Given the description of an element on the screen output the (x, y) to click on. 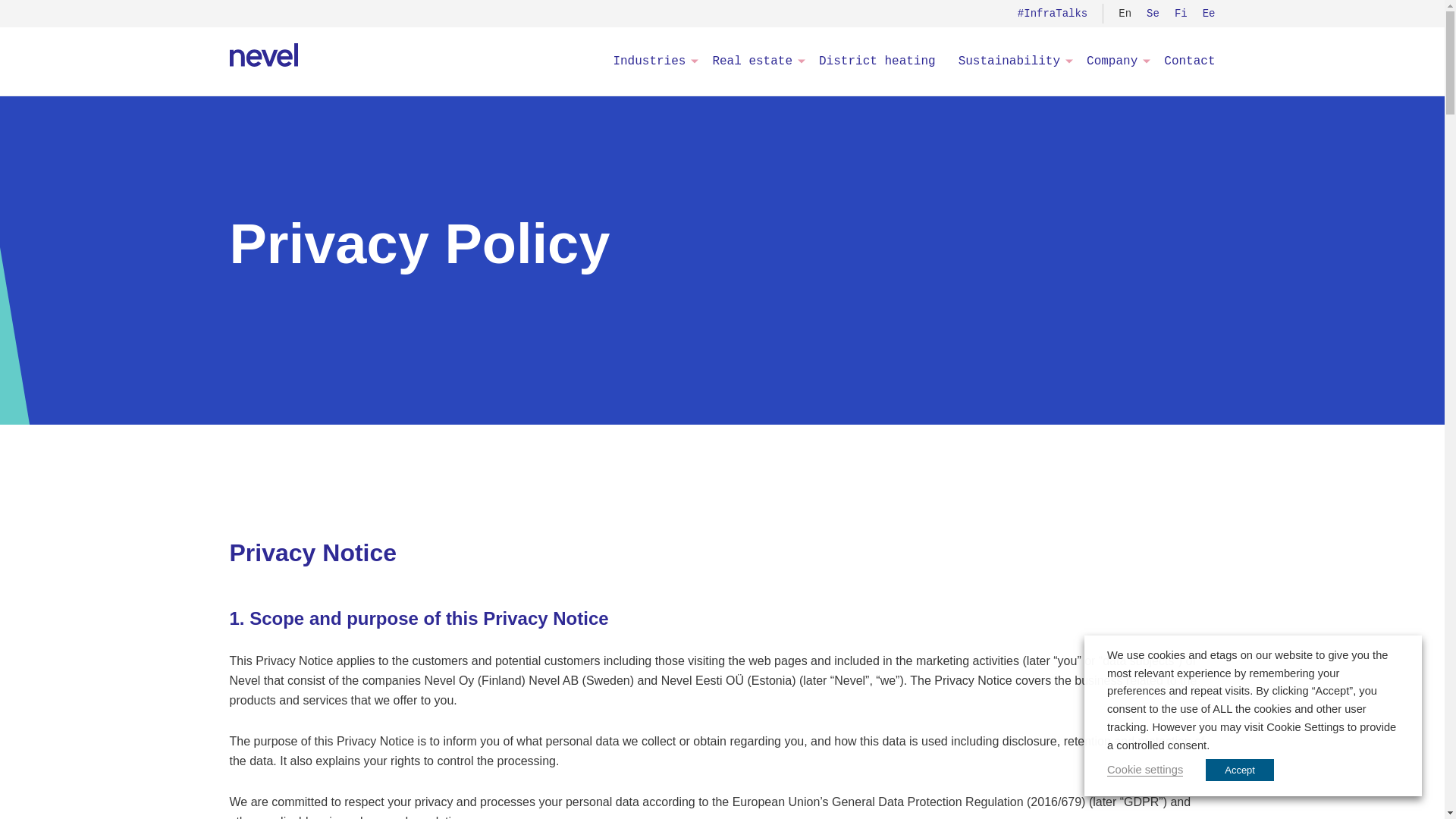
Real estate (754, 61)
Sustainability (1011, 61)
Nevel (262, 54)
Se (1152, 13)
Industries (650, 61)
Ee (1208, 13)
Fi (1181, 13)
District heating (877, 61)
